Given the description of an element on the screen output the (x, y) to click on. 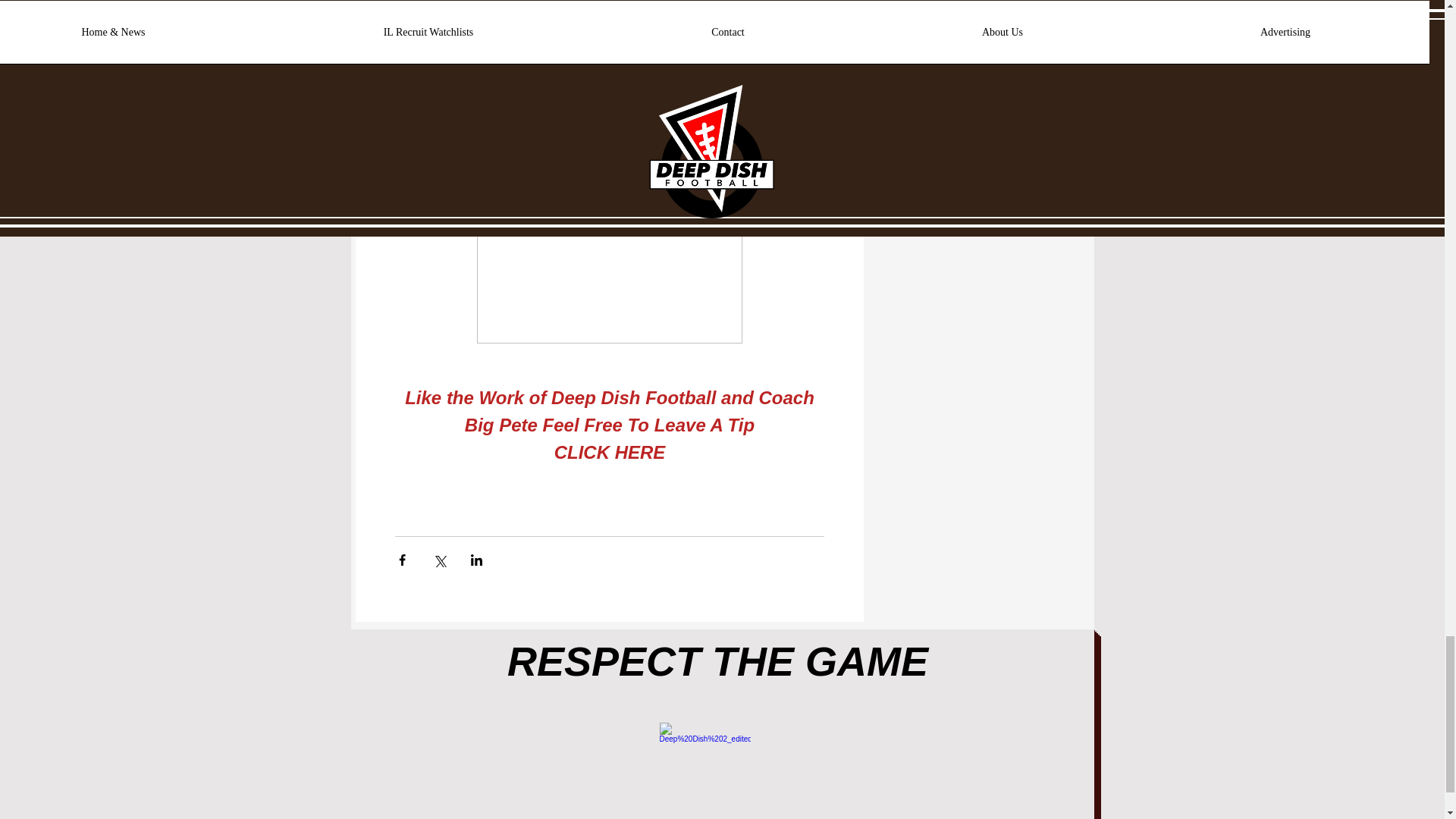
CLICK HERE (609, 452)
